Given the description of an element on the screen output the (x, y) to click on. 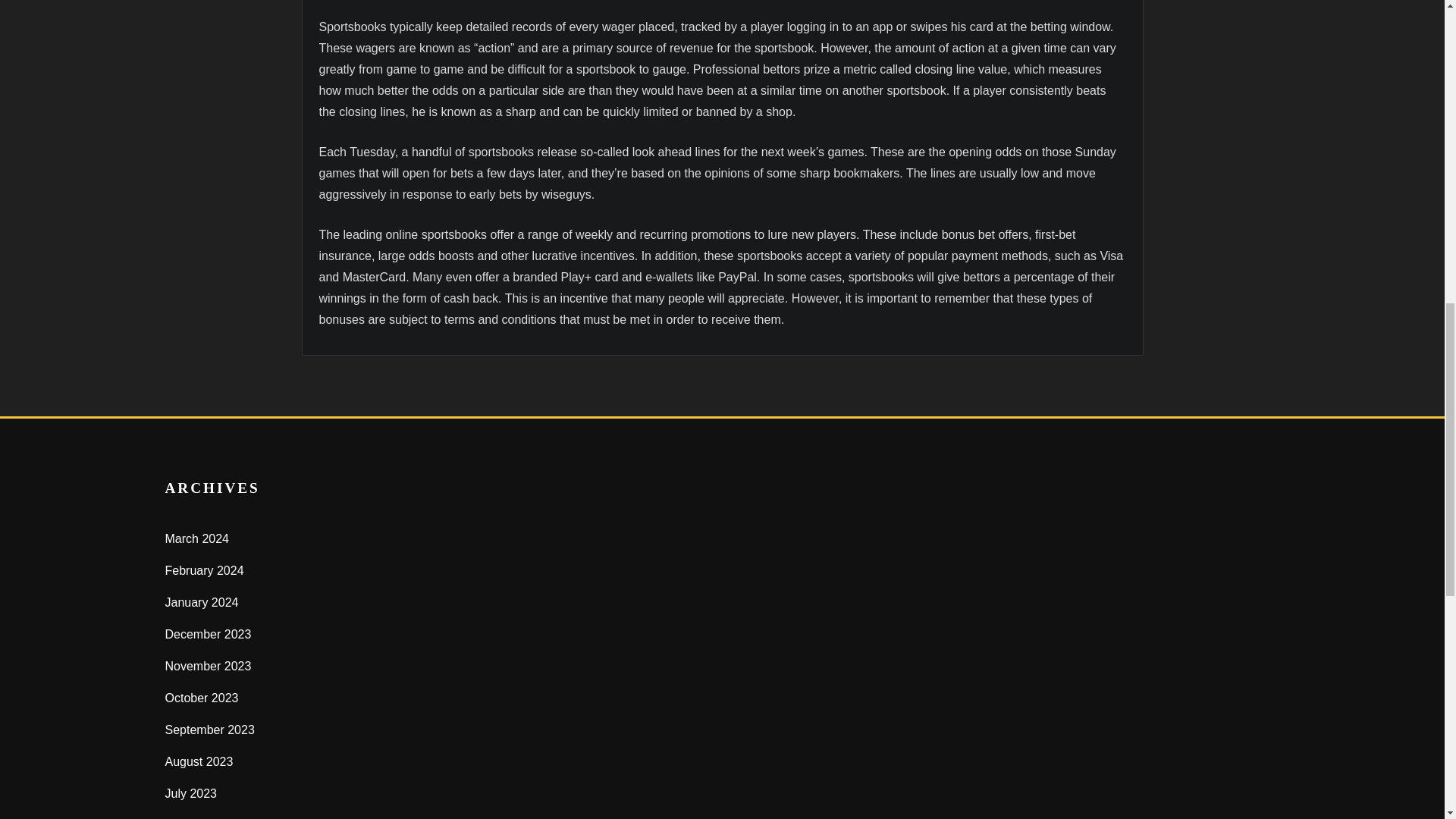
August 2023 (198, 761)
March 2024 (197, 538)
December 2023 (208, 634)
September 2023 (209, 729)
November 2023 (208, 666)
February 2024 (204, 570)
January 2024 (201, 602)
July 2023 (190, 793)
October 2023 (201, 697)
